Given the description of an element on the screen output the (x, y) to click on. 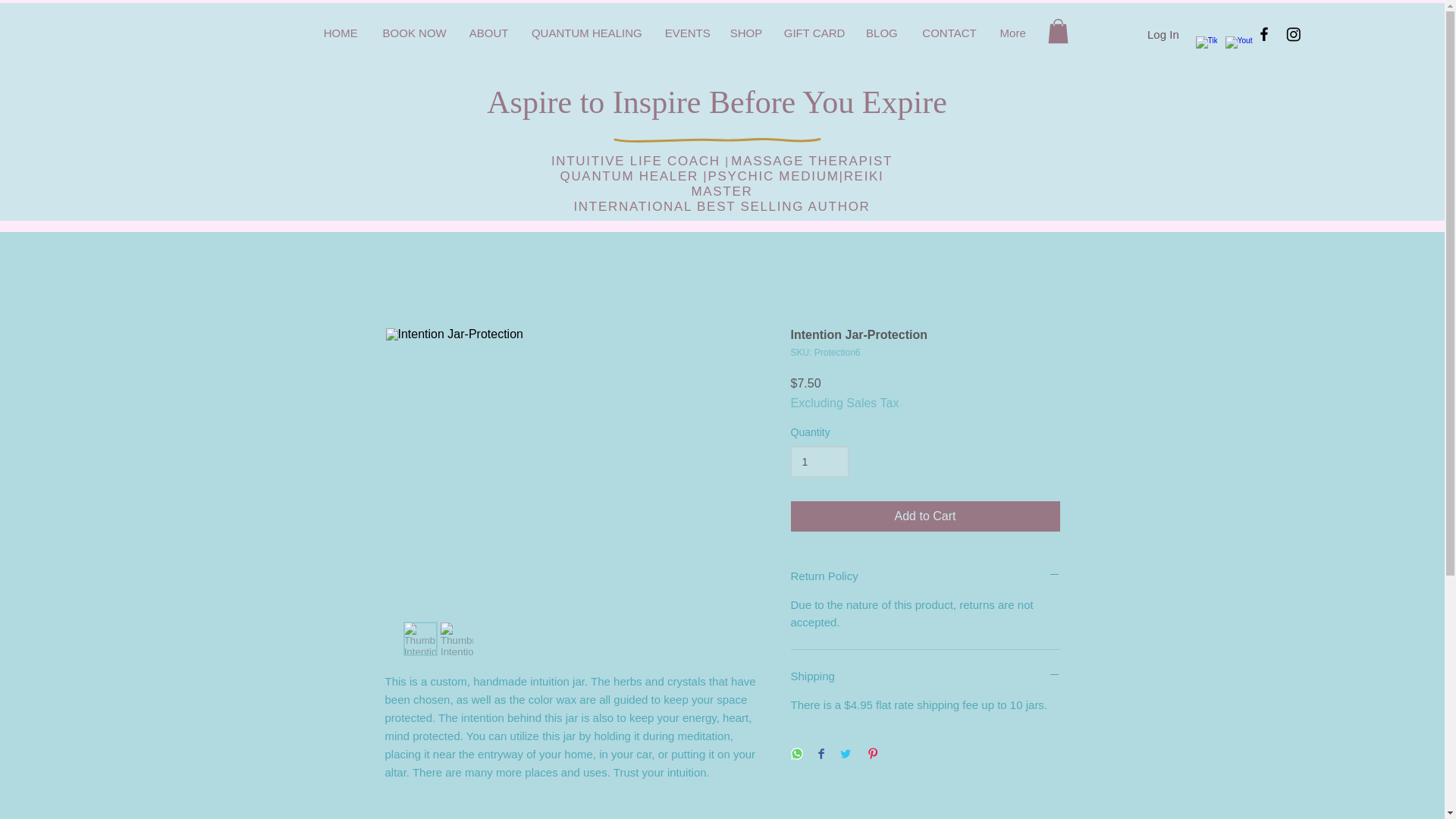
Log In (1163, 33)
CONTACT (948, 30)
1 (818, 461)
HOME (340, 30)
BOOK NOW (413, 30)
GIFT CARD (813, 30)
Erika-Logo-V3updated.png (708, 10)
Return Policy (924, 575)
BLOG (881, 30)
Shipping (924, 675)
